Given the description of an element on the screen output the (x, y) to click on. 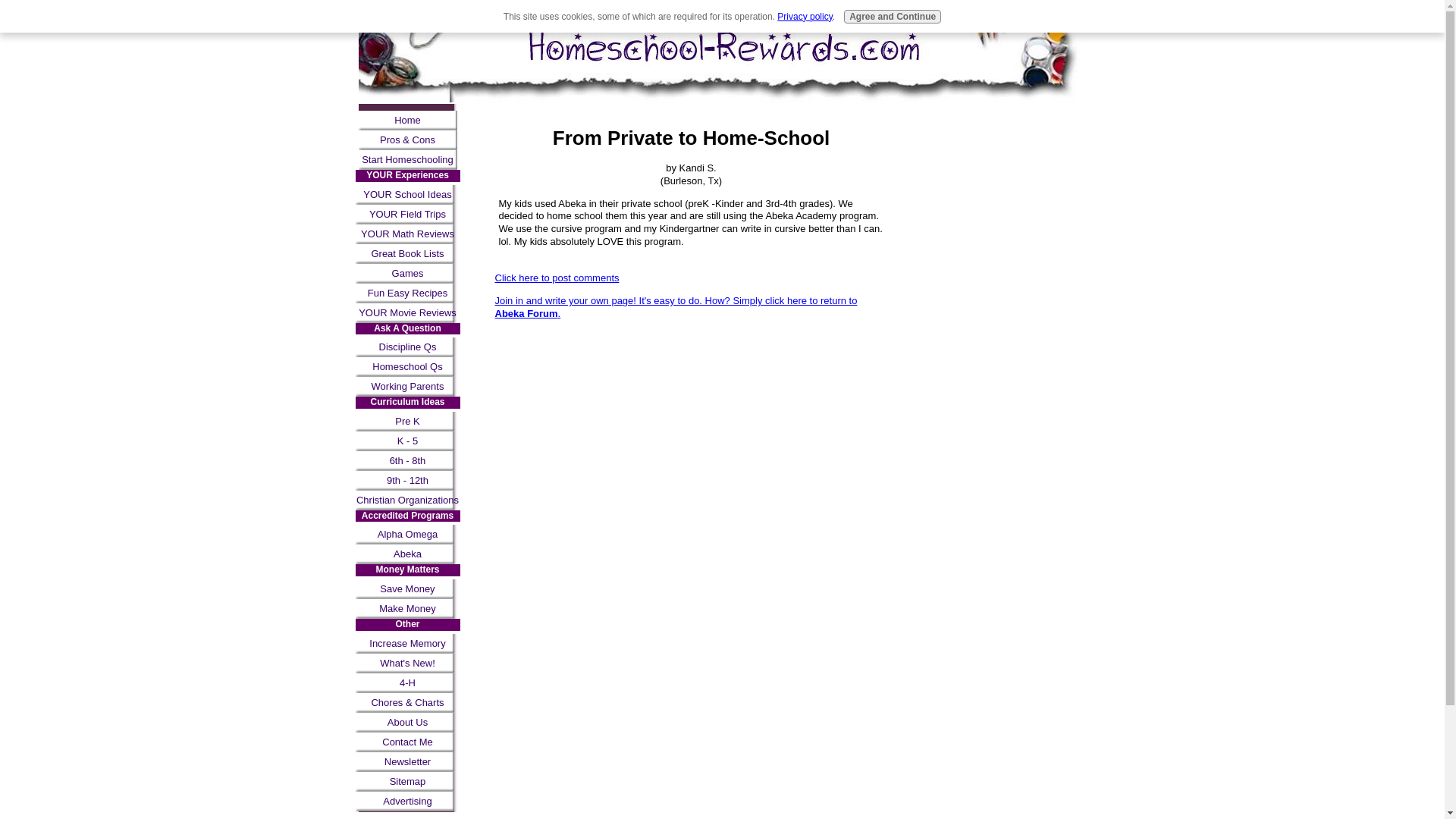
Start Homeschooling (407, 159)
About Us (407, 722)
YOUR School Ideas (407, 194)
9th - 12th (407, 480)
Click here to post comments (556, 277)
What's New! (407, 663)
Contact Me (407, 742)
Home (407, 120)
Make Money (407, 608)
K - 5 (407, 441)
Privacy policy (804, 16)
Homeschool Qs (407, 366)
4-H (407, 682)
YOUR Math Reviews (407, 234)
Working Parents (407, 386)
